Given the description of an element on the screen output the (x, y) to click on. 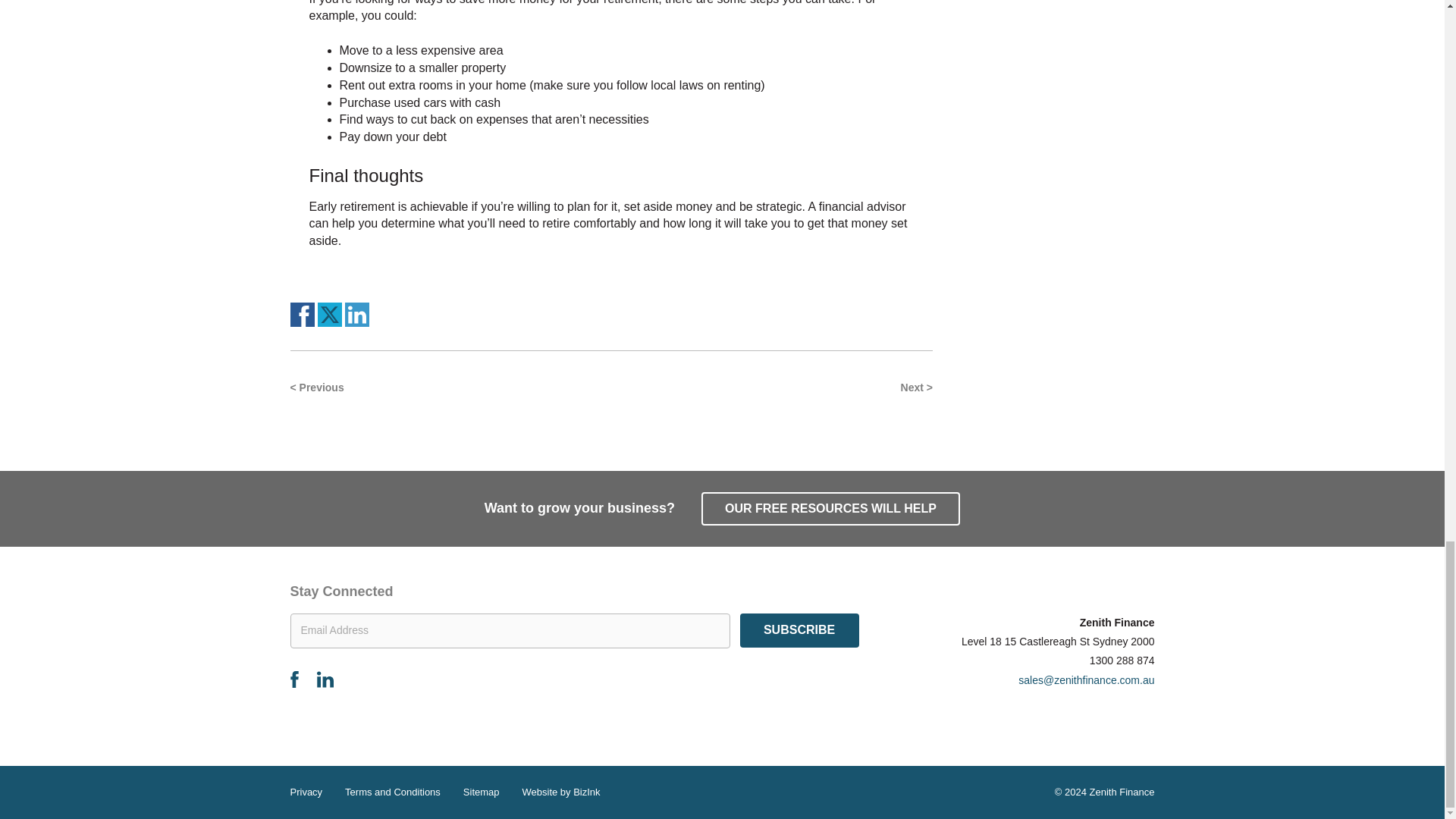
Subscribe (799, 630)
